Given the description of an element on the screen output the (x, y) to click on. 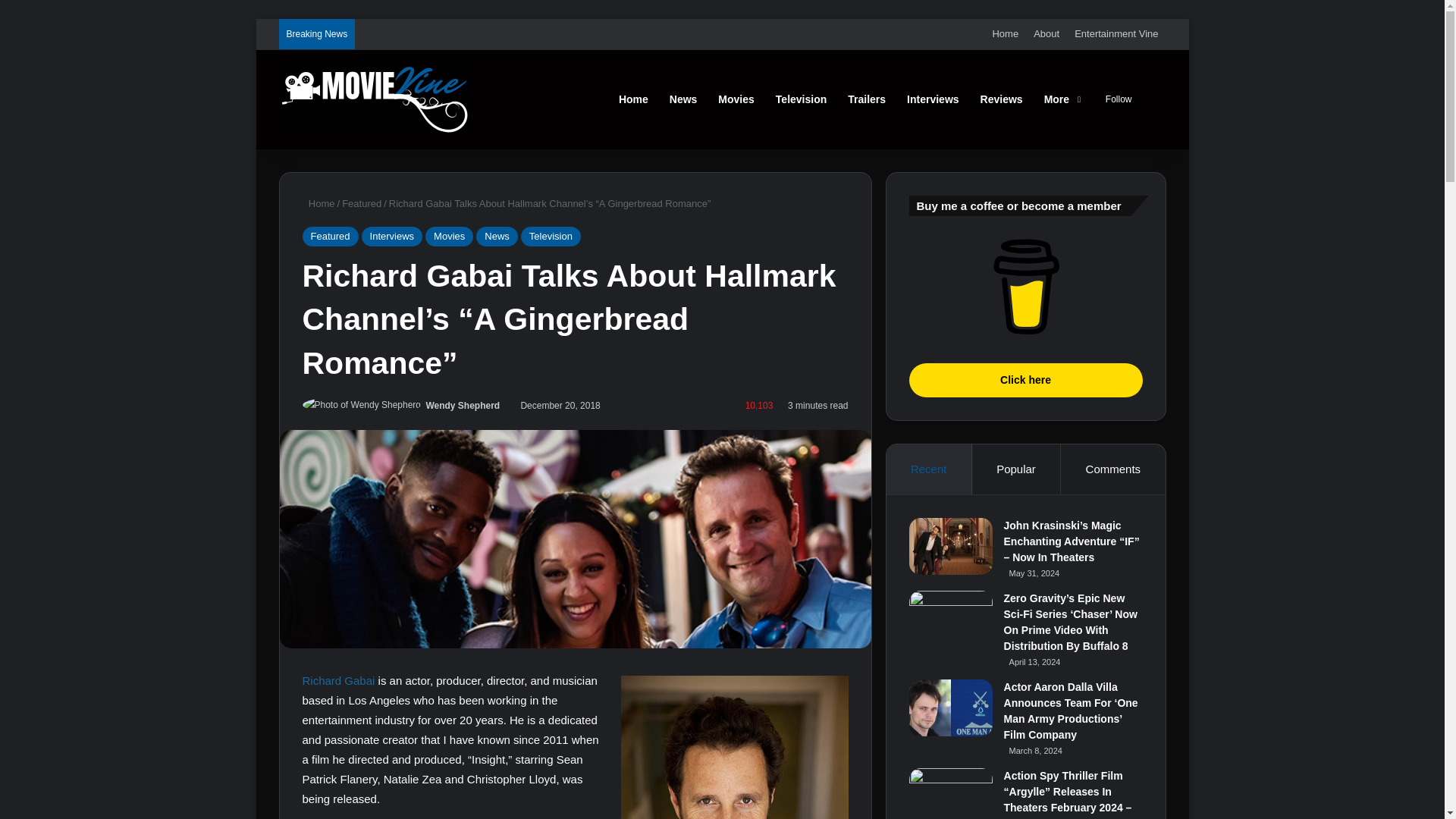
Movie Vine (373, 99)
Click here (1025, 287)
Entertainment Vine (1116, 33)
Wendy Shepherd (462, 405)
About (1046, 33)
Home (1005, 33)
